Given the description of an element on the screen output the (x, y) to click on. 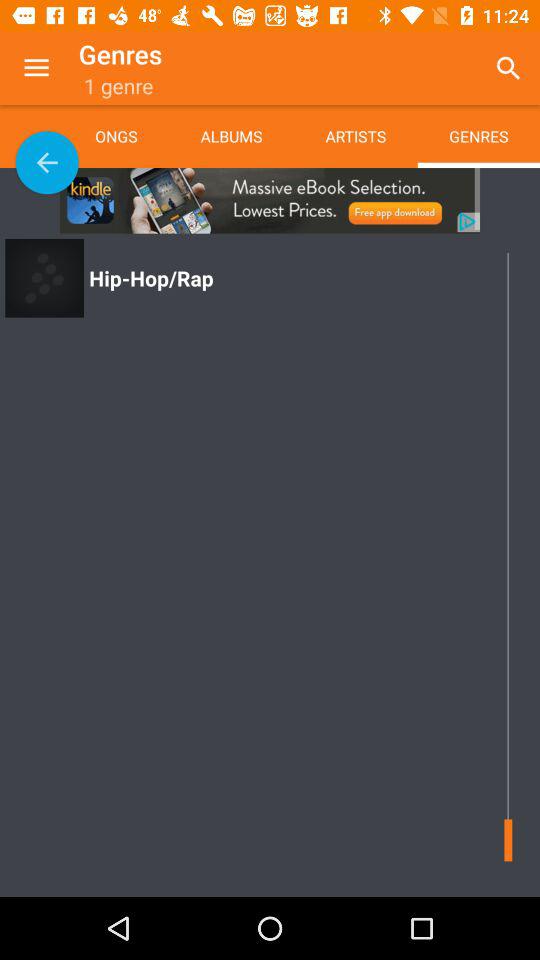
link to web page (270, 200)
